Given the description of an element on the screen output the (x, y) to click on. 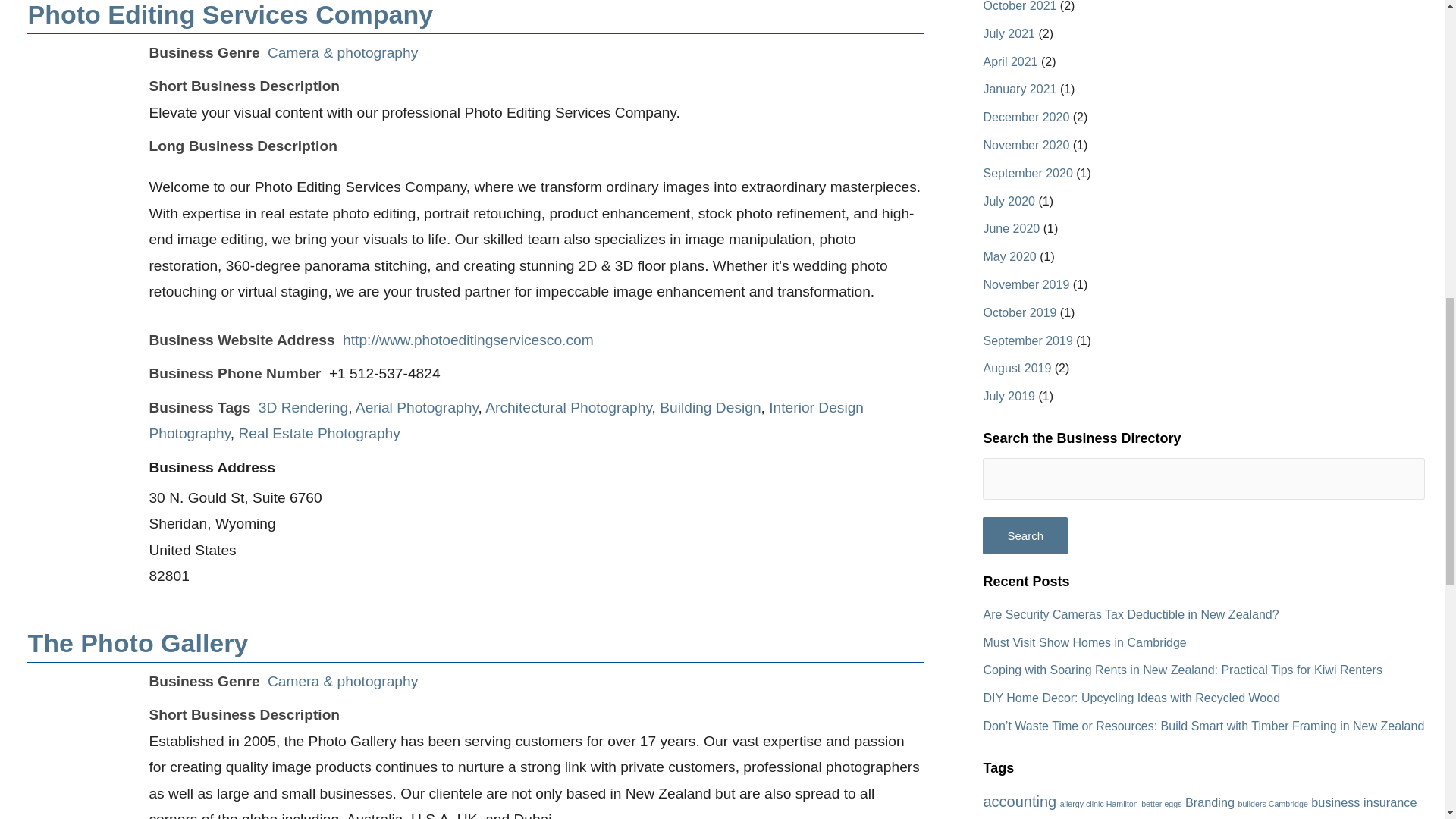
3D Rendering (303, 407)
The Photo Gallery (137, 642)
Aerial Photography (417, 407)
Interior Design Photography (505, 420)
Building Design (709, 407)
Architectural Photography (567, 407)
Search (1024, 535)
Photo Editing Services Company (229, 14)
Real Estate Photography (319, 433)
Search (1024, 535)
